Given the description of an element on the screen output the (x, y) to click on. 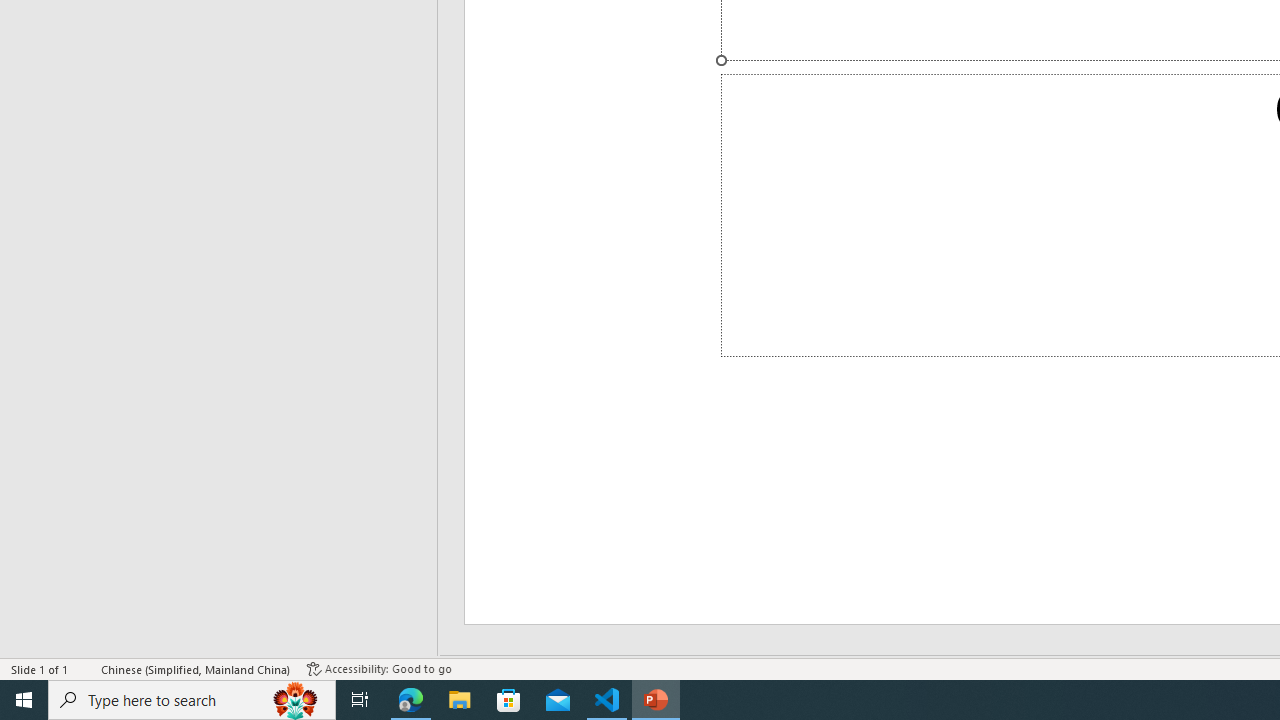
Spell Check  (86, 668)
Accessibility Checker Accessibility: Good to go (379, 668)
